Given the description of an element on the screen output the (x, y) to click on. 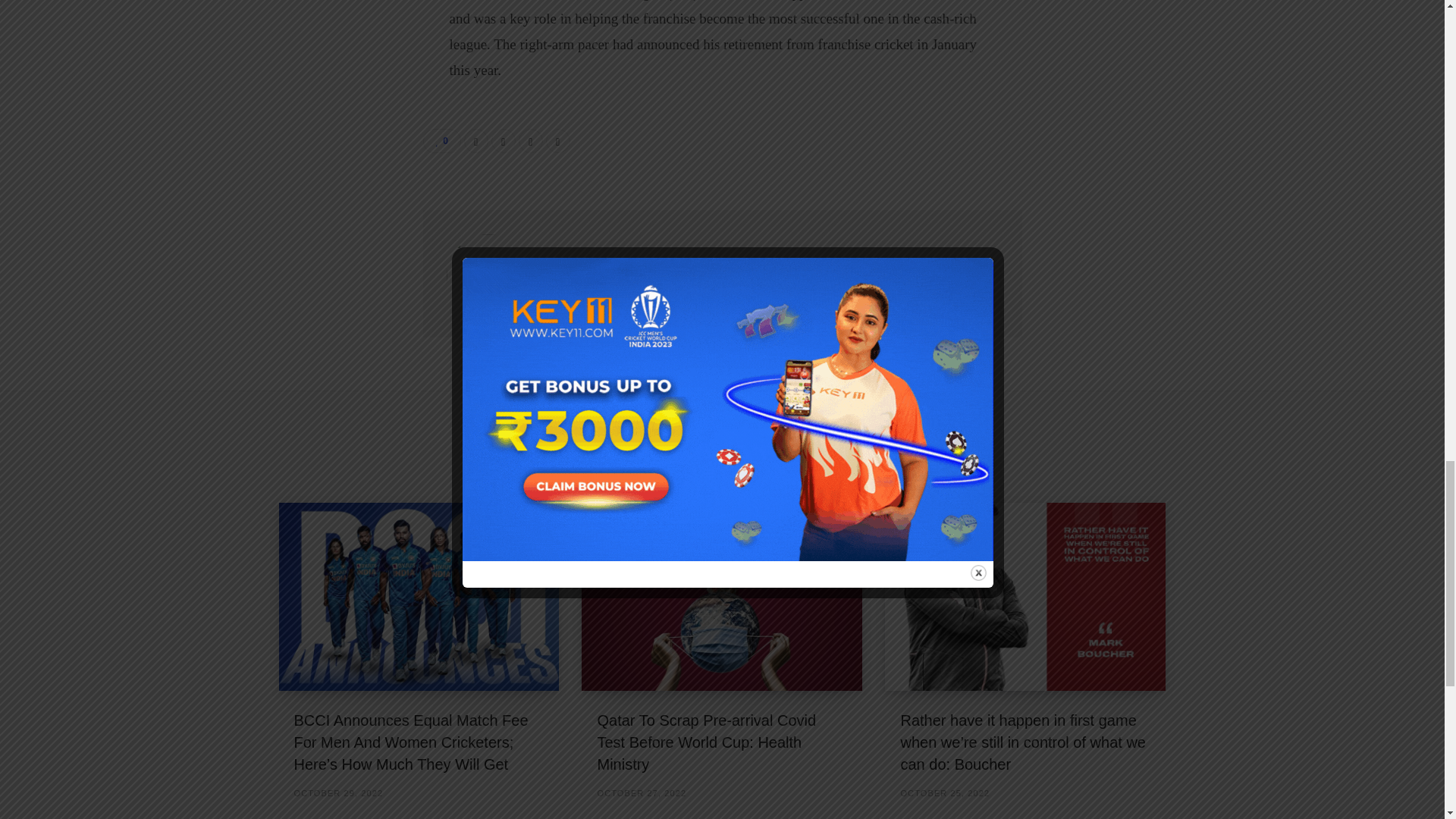
0 (442, 140)
